Given the description of an element on the screen output the (x, y) to click on. 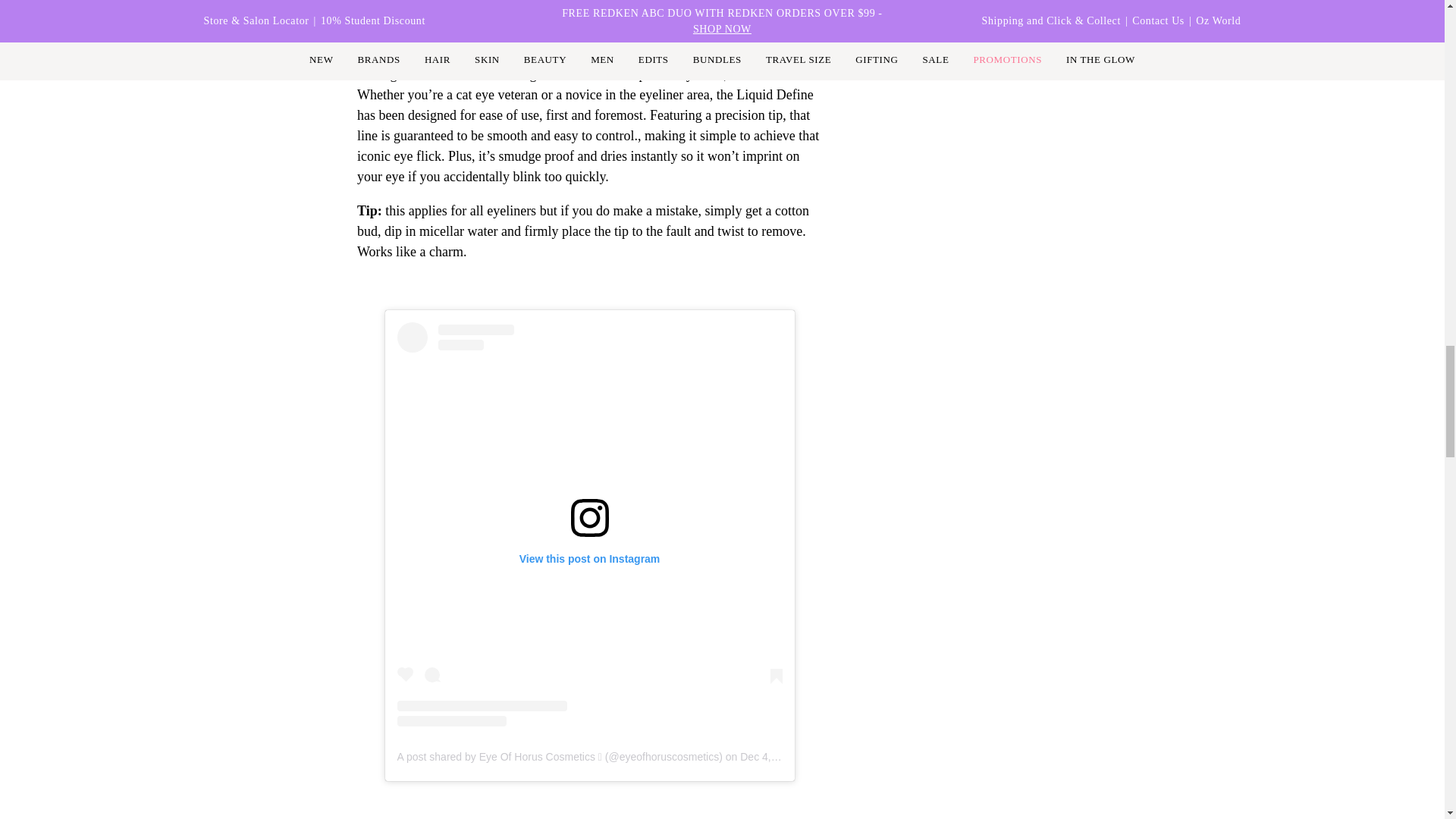
Liquid Define - Black (459, 40)
